Given the description of an element on the screen output the (x, y) to click on. 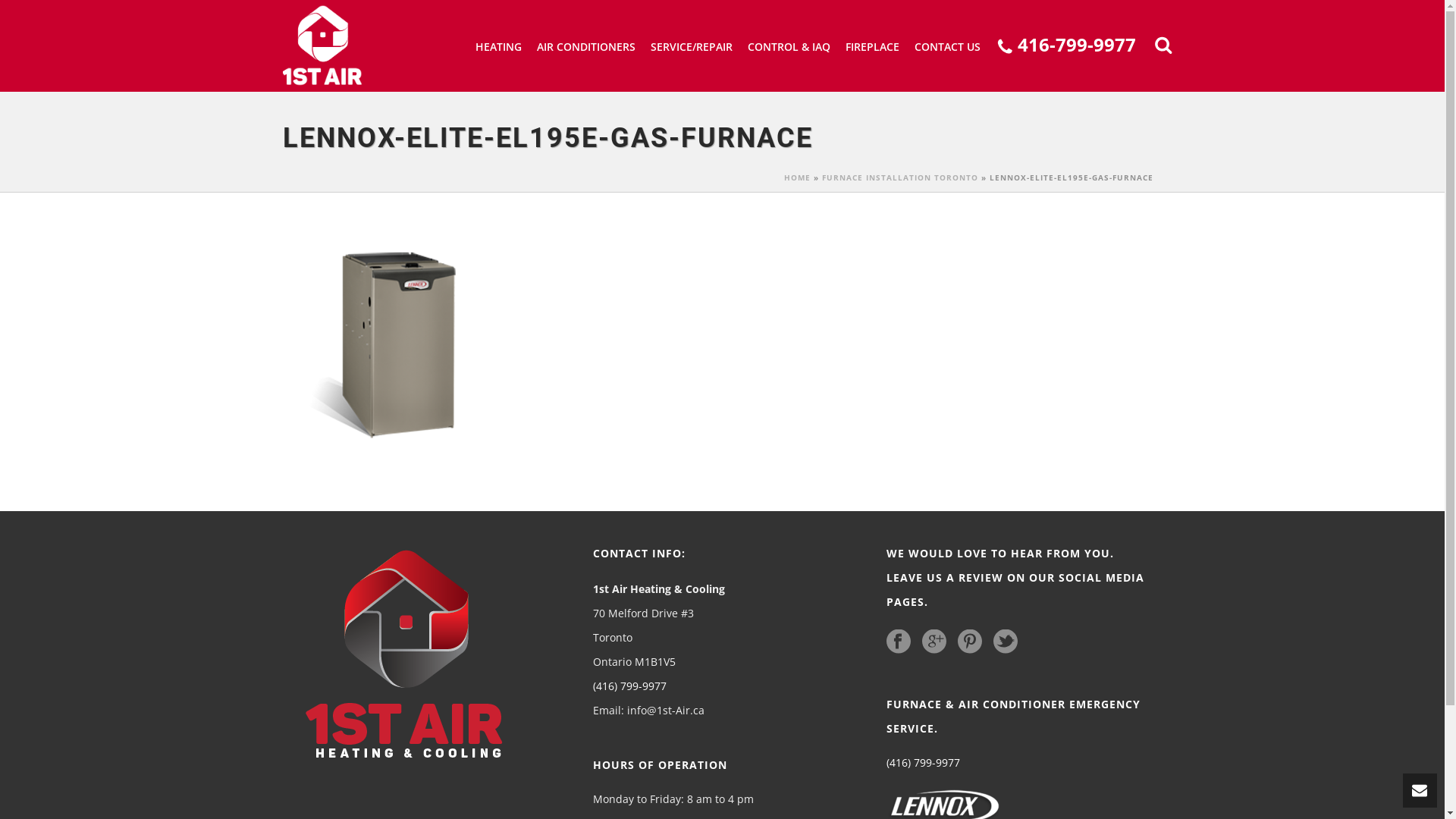
FIREPLACE Element type: text (871, 46)
HVAC company Element type: hover (322, 45)
FURNACE INSTALLATION TORONTO Element type: text (900, 177)
(416) 799-9977 Element type: text (923, 762)
AIR CONDITIONERS Element type: text (586, 46)
SERVICE/REPAIR Element type: text (691, 46)
HEATING Element type: text (498, 46)
HOME Element type: text (797, 177)
 twitter Element type: hover (1005, 642)
 facebook Element type: hover (898, 642)
 googleplus Element type: hover (934, 642)
CONTACT US Element type: text (947, 46)
 pinterest Element type: hover (969, 642)
CONTROL & IAQ Element type: text (788, 46)
416-799-9977 Element type: text (1065, 46)
(416) 799-9977 Element type: text (629, 685)
